Given the description of an element on the screen output the (x, y) to click on. 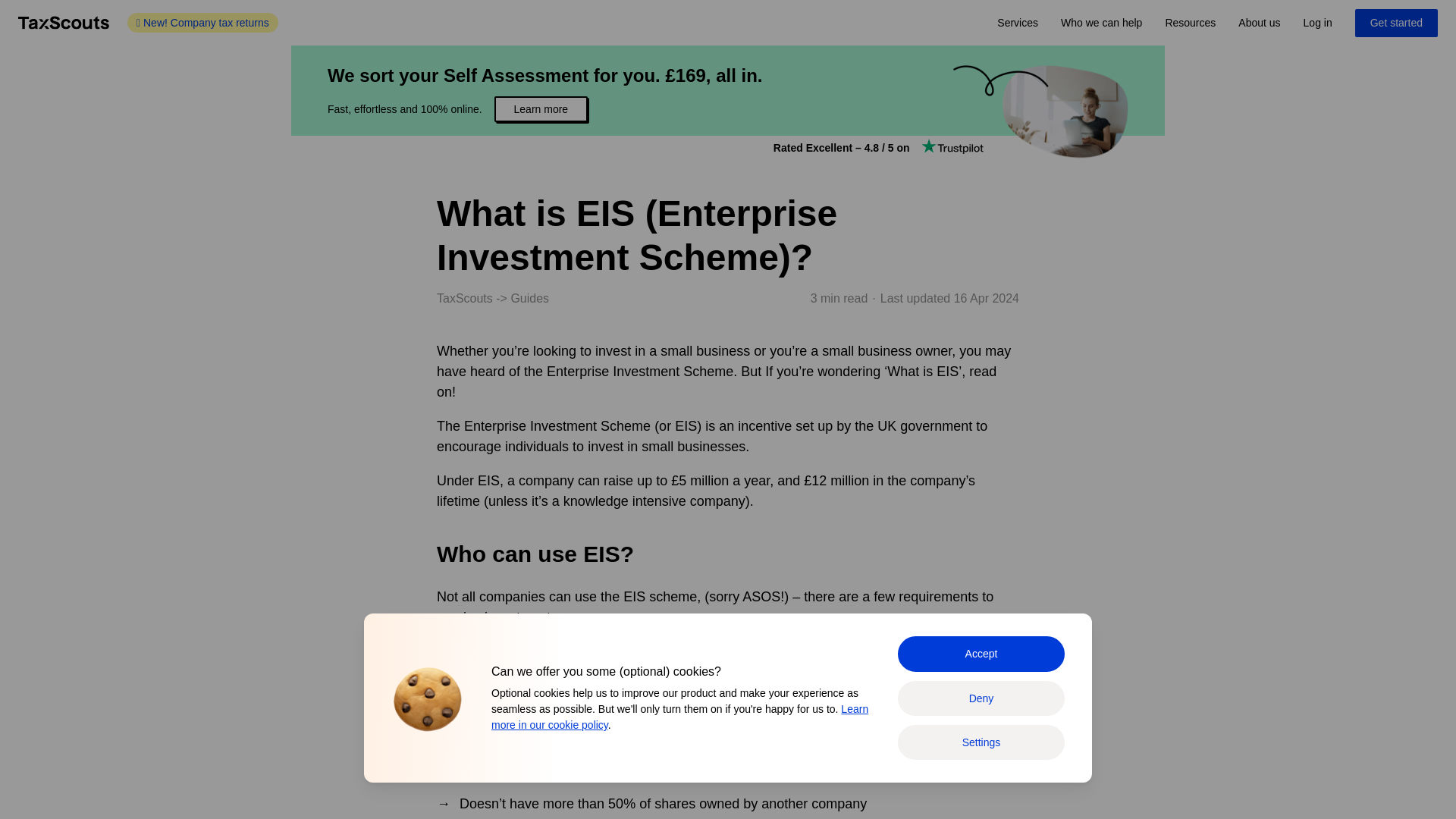
About us (1259, 22)
Deny (981, 697)
Resources (1190, 22)
Settings (981, 742)
Learn more in our cookie policy (679, 716)
Who we can help (1101, 22)
Log in (1317, 22)
Get started (1396, 22)
Services (1017, 22)
Accept (981, 653)
